Given the description of an element on the screen output the (x, y) to click on. 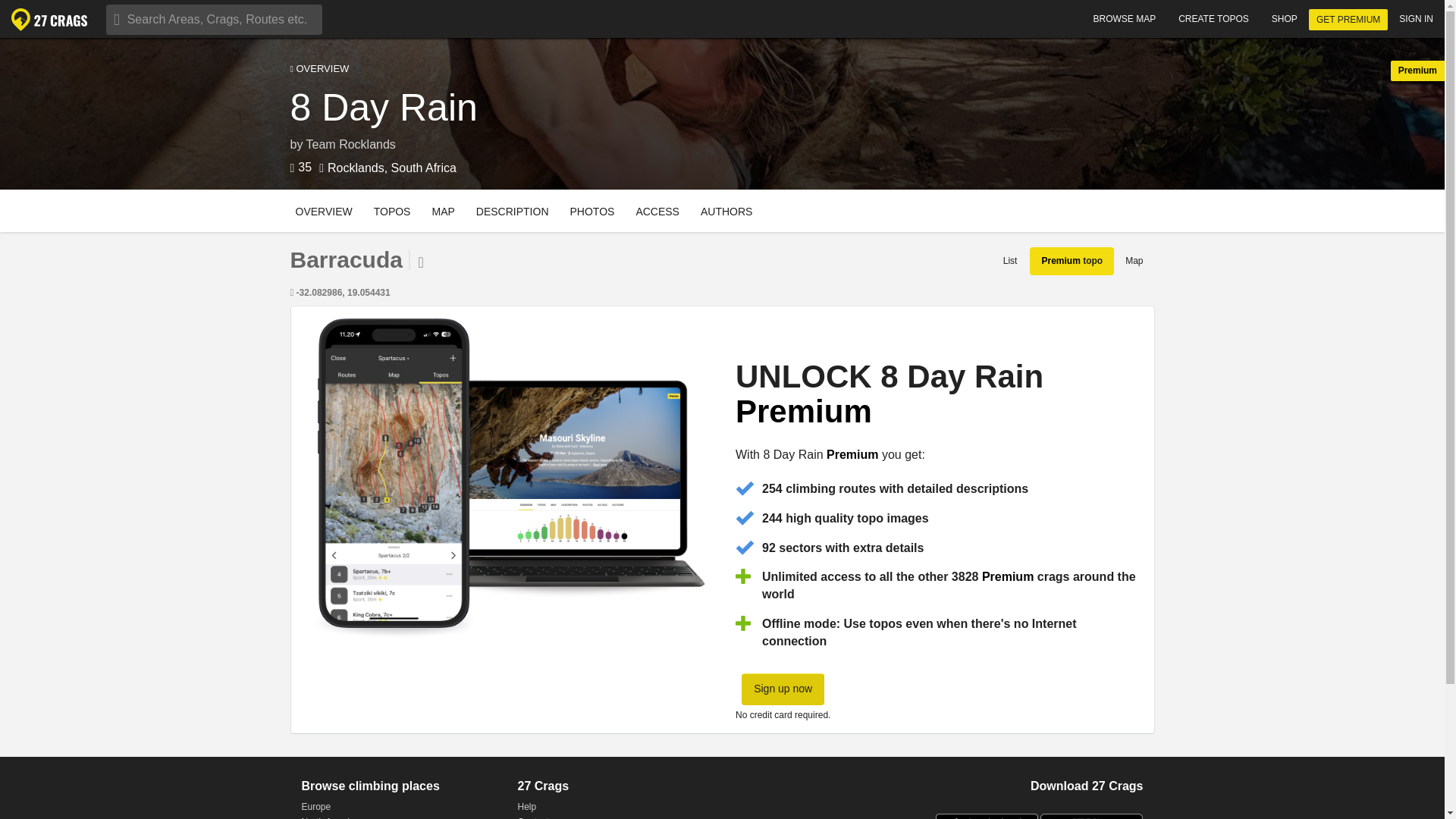
8 Day Rain (383, 107)
AUTHORS (726, 210)
GET PREMIUM (1347, 19)
CREATE TOPOS (1213, 18)
AUTHORS (726, 210)
ACCESS (657, 210)
8 Day Rain (721, 107)
SHOP (1284, 18)
DESCRIPTION (721, 210)
TOPOS (512, 210)
OVERVIEW (391, 210)
PHOTOS (721, 69)
TOPOS (593, 210)
Premium topo (392, 210)
